Given the description of an element on the screen output the (x, y) to click on. 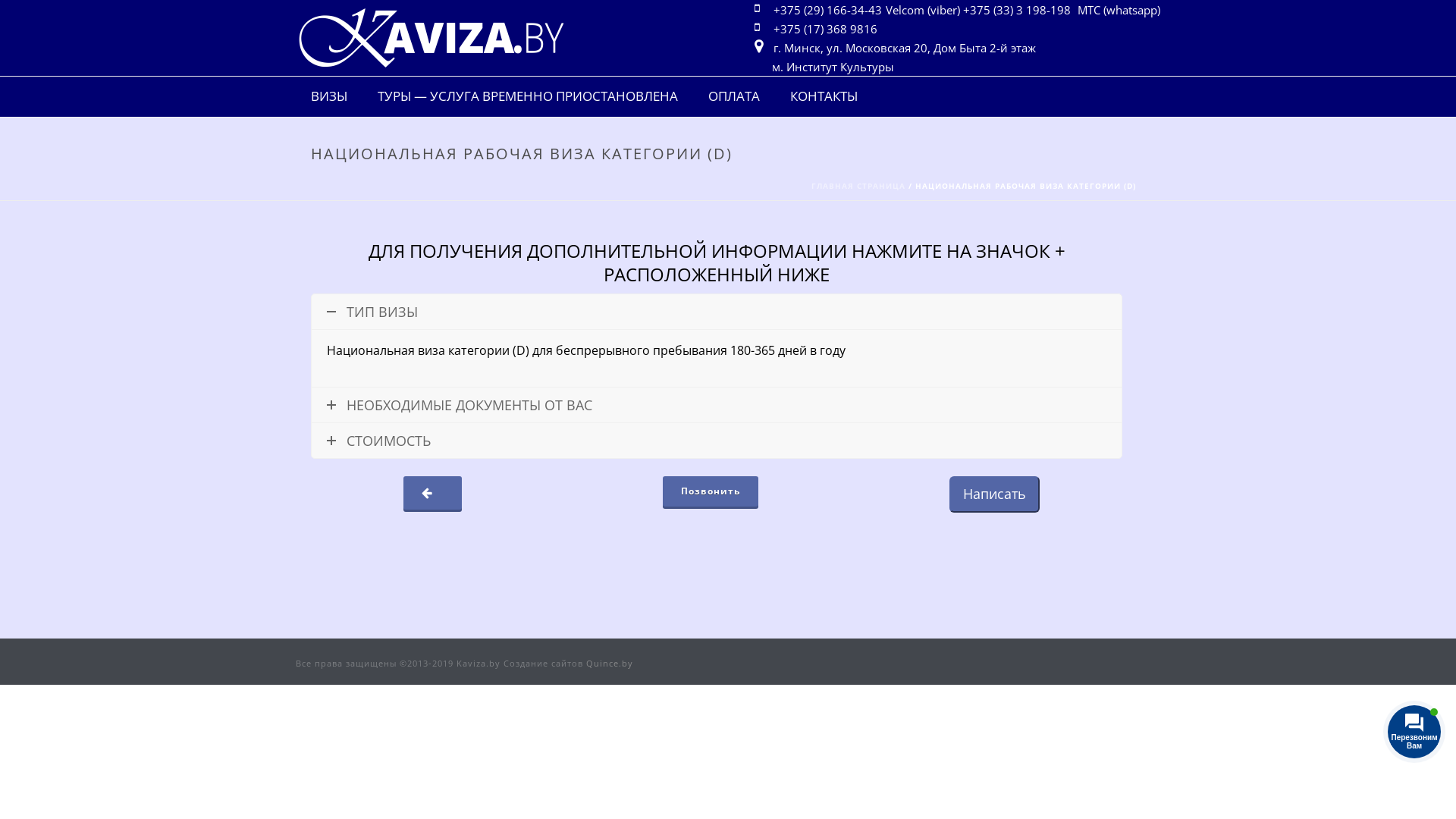
Quince.by Element type: text (609, 662)
Just another WordPress site Element type: hover (430, 37)
+375 (29) 166-34-43 Element type: text (829, 9)
+375 (33) 3 198-198 Element type: text (1018, 9)
+375 (17) 368 9816 Element type: text (827, 28)
